Given the description of an element on the screen output the (x, y) to click on. 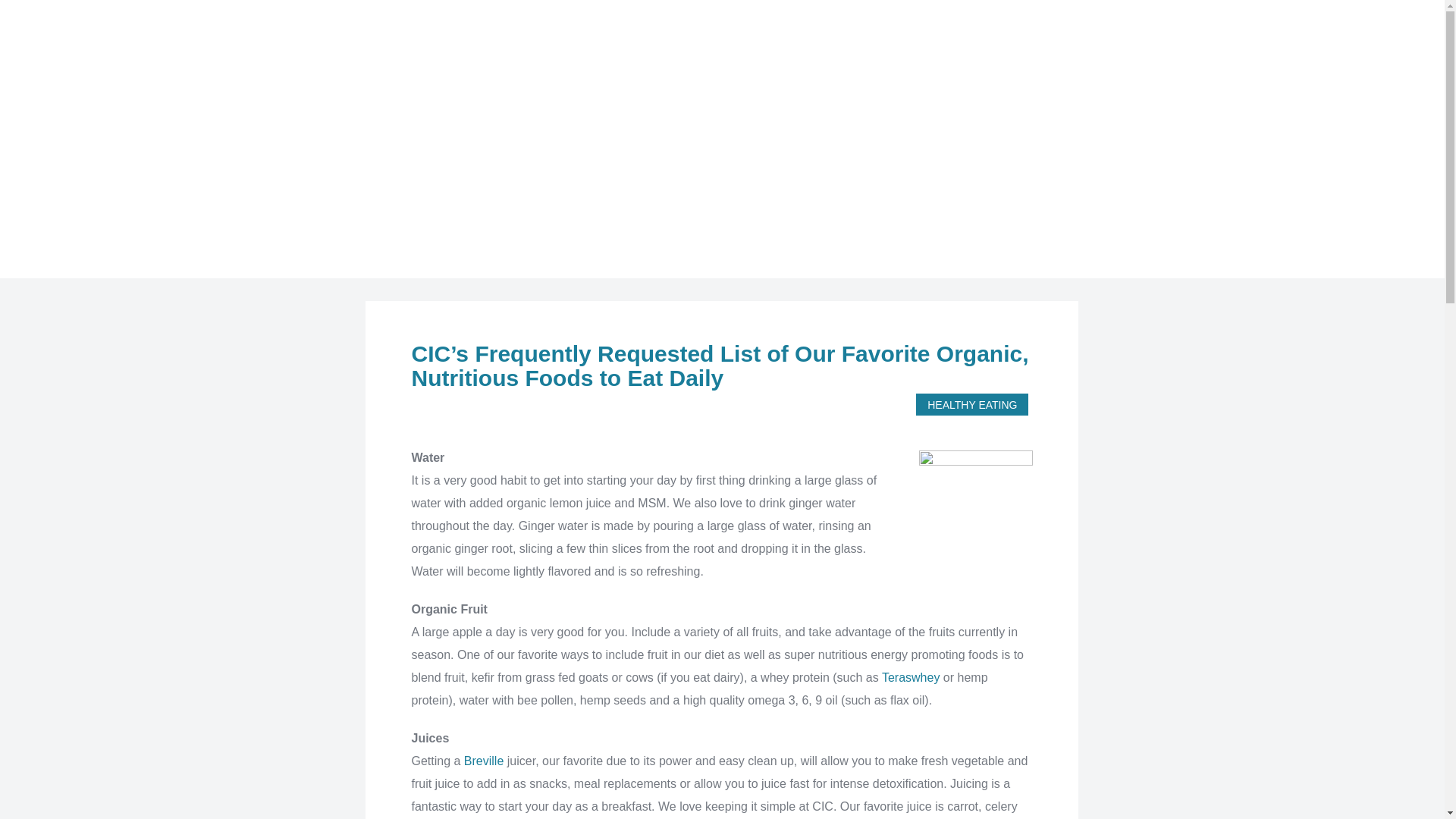
Go to Chicago Internal Cleansing. (399, 209)
SERVICES (909, 39)
Teraswhey (910, 676)
Go to the Healthy Eating Category archives. (541, 209)
ABOUT US (1032, 39)
Contact CIC (1331, 39)
CONTACT US (1331, 39)
HOME (815, 39)
HEALTHY EATING (541, 209)
RESOURCE CENTER (1185, 39)
